Given the description of an element on the screen output the (x, y) to click on. 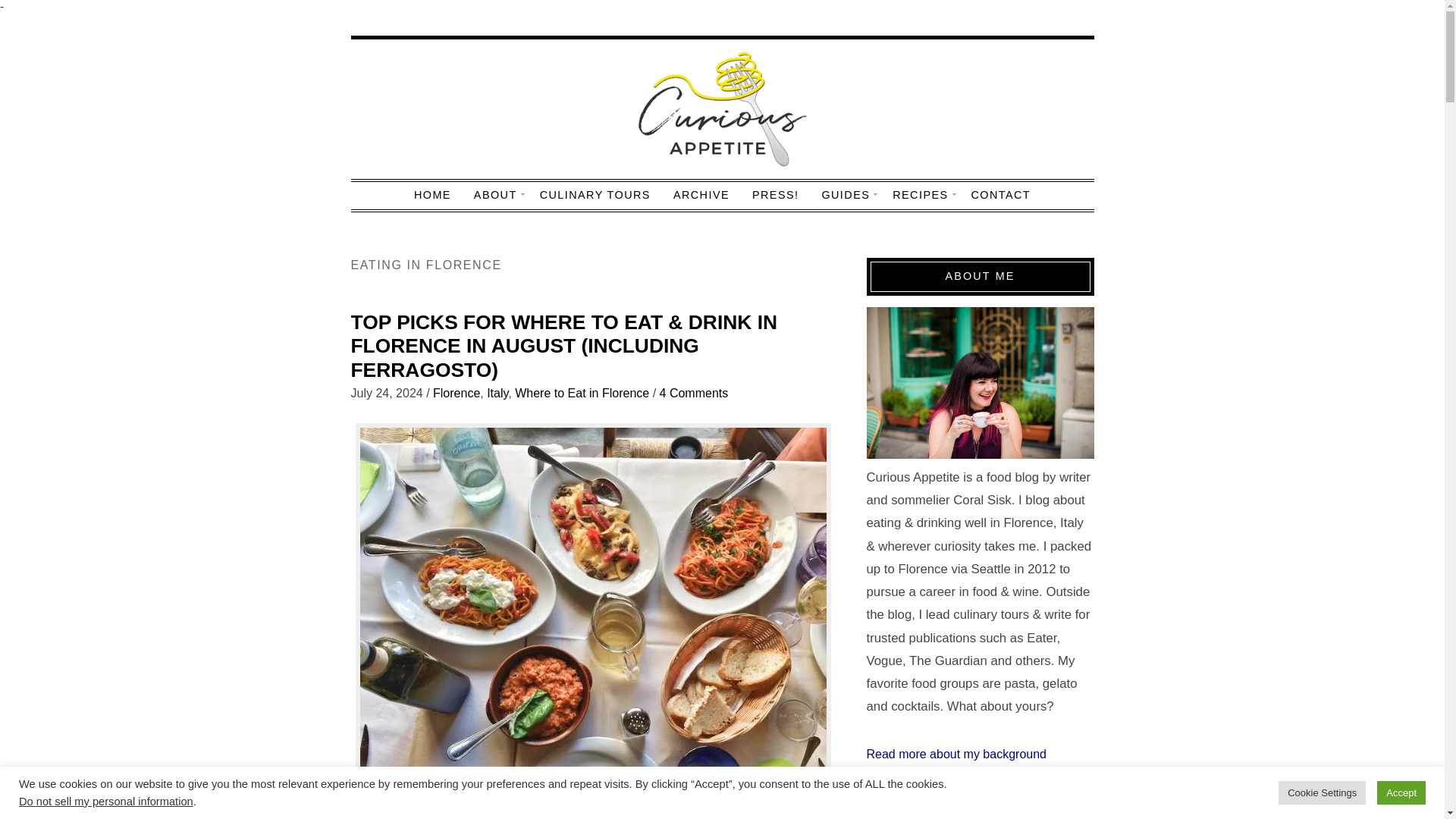
HOME (433, 194)
CONTACT (1000, 194)
4 Comments (694, 392)
ABOUT (495, 194)
Where to Eat in Florence (582, 392)
Florence (456, 392)
RECIPES (919, 194)
PRESS! (775, 194)
ARCHIVE (701, 194)
Curious Appetite (721, 110)
